Given the description of an element on the screen output the (x, y) to click on. 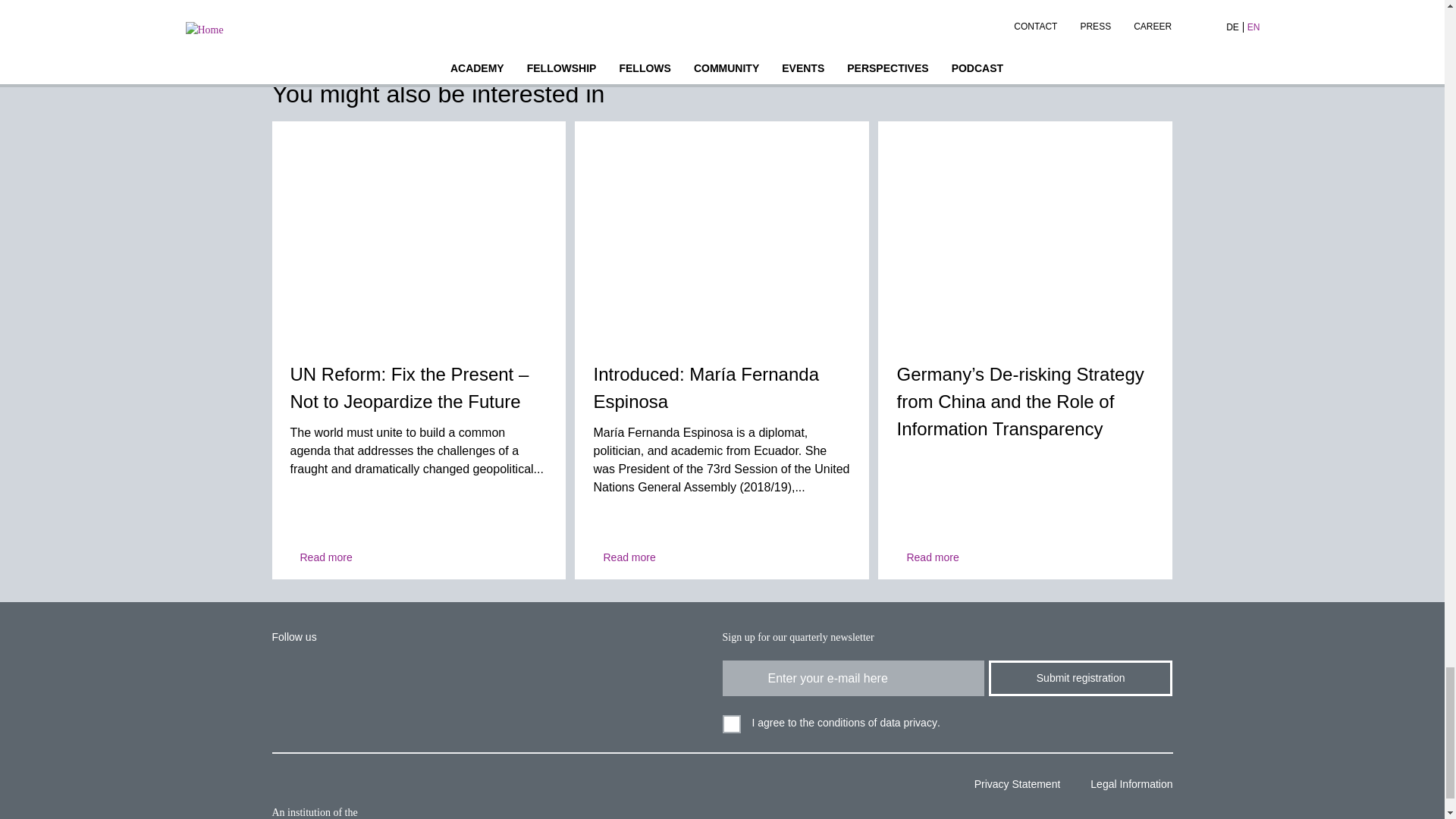
Read more (320, 557)
Read more (623, 557)
News (418, 232)
News (722, 232)
